Given the description of an element on the screen output the (x, y) to click on. 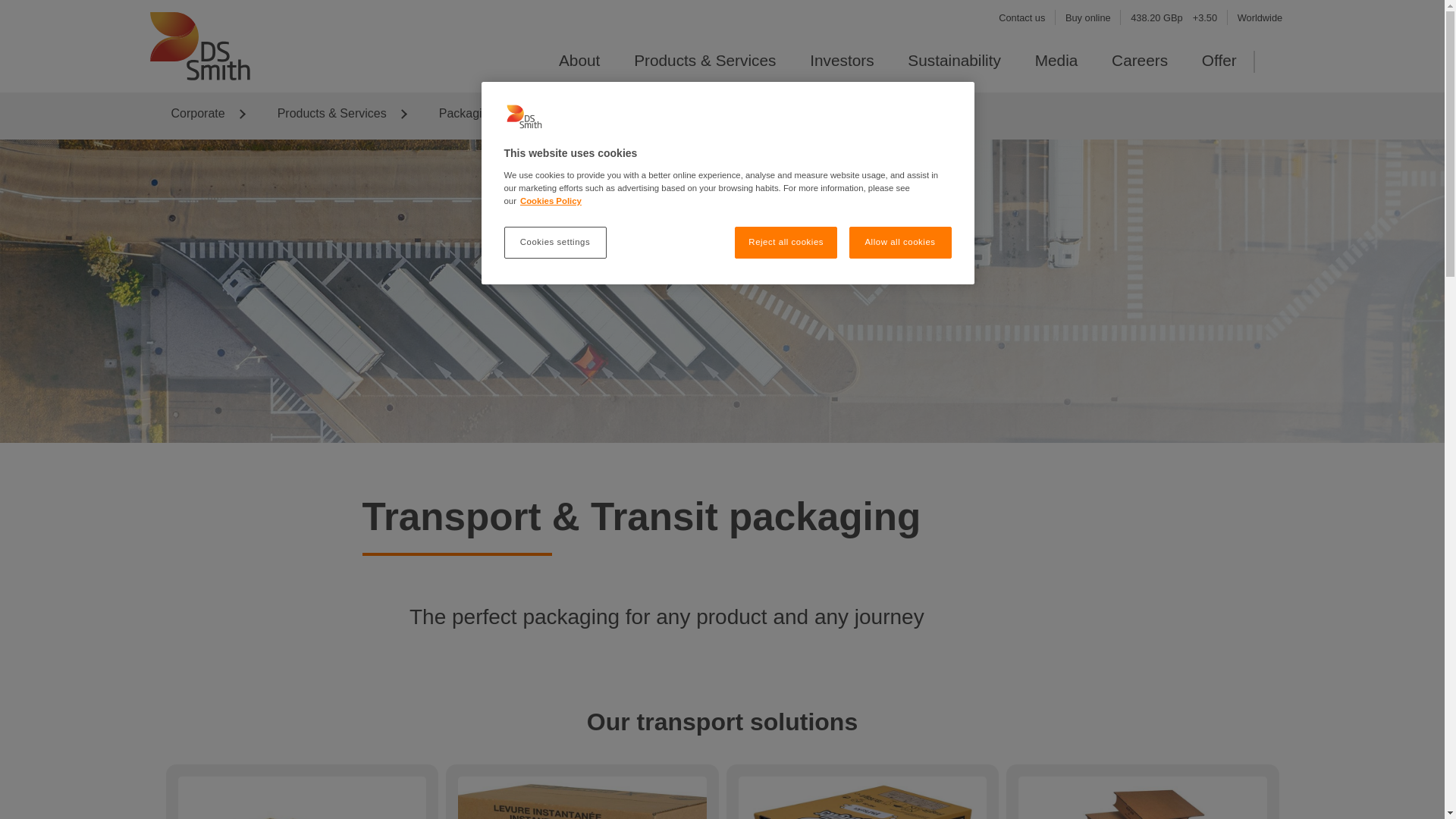
About (579, 59)
